Given the description of an element on the screen output the (x, y) to click on. 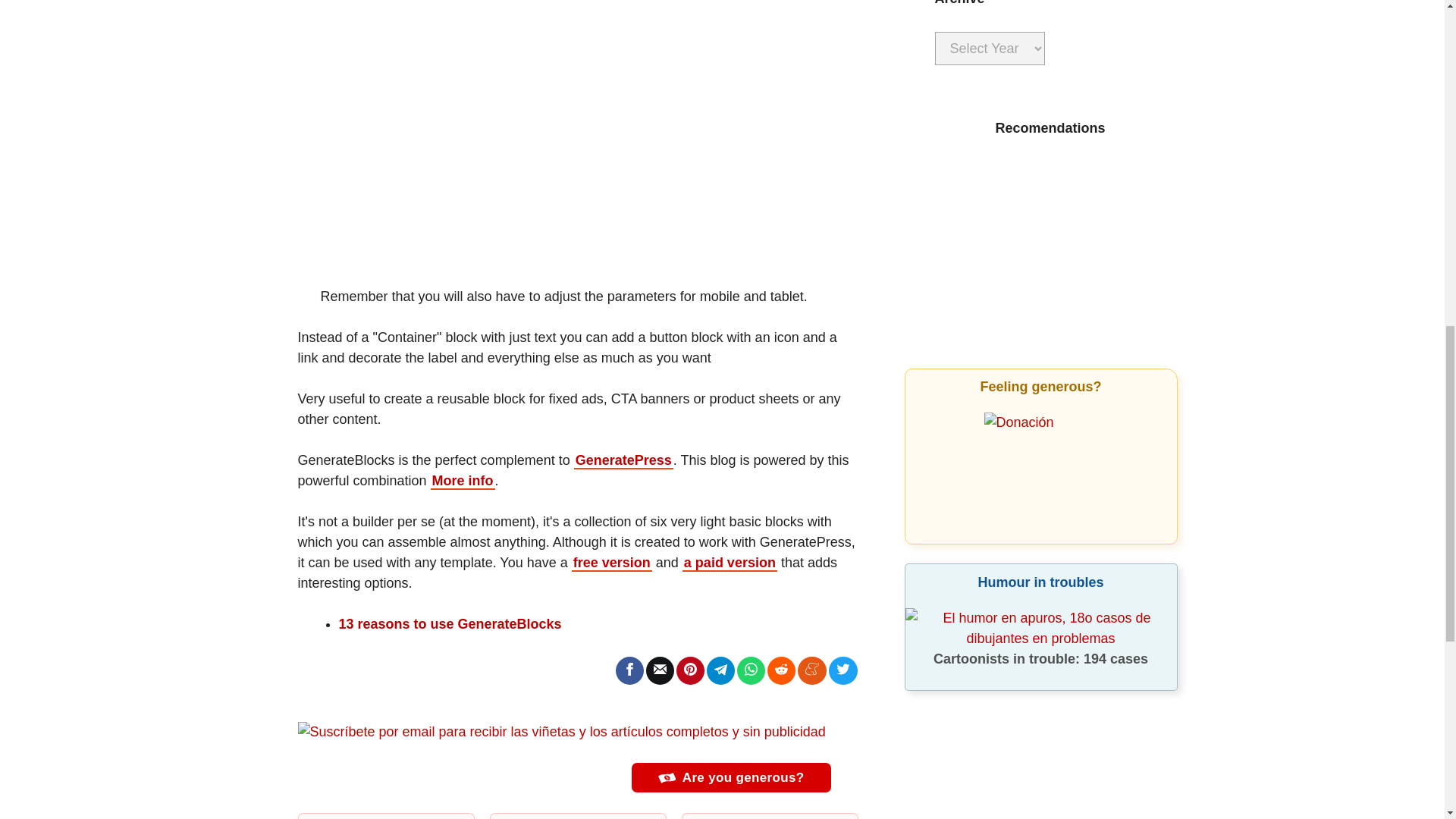
Reddit (780, 668)
Telegram (720, 668)
